Given the description of an element on the screen output the (x, y) to click on. 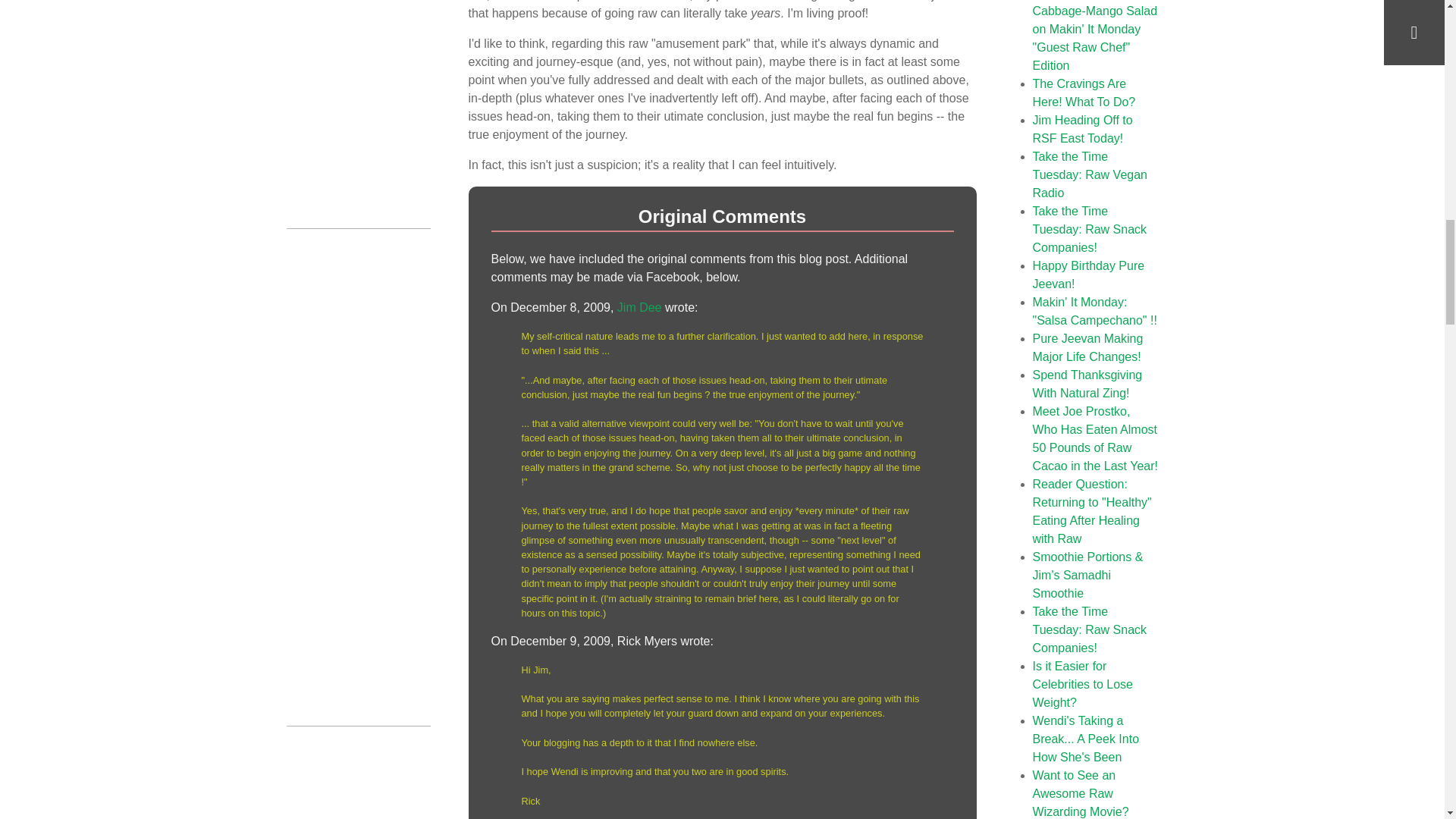
Take the Time Tuesday: Raw Snack Companies! (1089, 629)
Makin' It Monday: "Salsa Campechano" !! (1094, 310)
Take the Time Tuesday: Raw Snack Companies! (1089, 228)
Is it Easier for Celebrities to Lose Weight? (1083, 684)
Spend Thanksgiving With Natural Zing! (1087, 383)
Jim Heading Off to RSF East Today! (1082, 128)
Happy Birthday Pure Jeevan! (1088, 274)
Pure Jeevan Making Major Life Changes! (1087, 347)
The Cravings Are Here! What To Do? (1083, 92)
Take the Time Tuesday: Raw Vegan Radio (1090, 174)
Wendi's Taking a Break... A Peek Into How She's Been (1086, 738)
Want to See an Awesome Raw Wizarding Movie? (1080, 793)
